Given the description of an element on the screen output the (x, y) to click on. 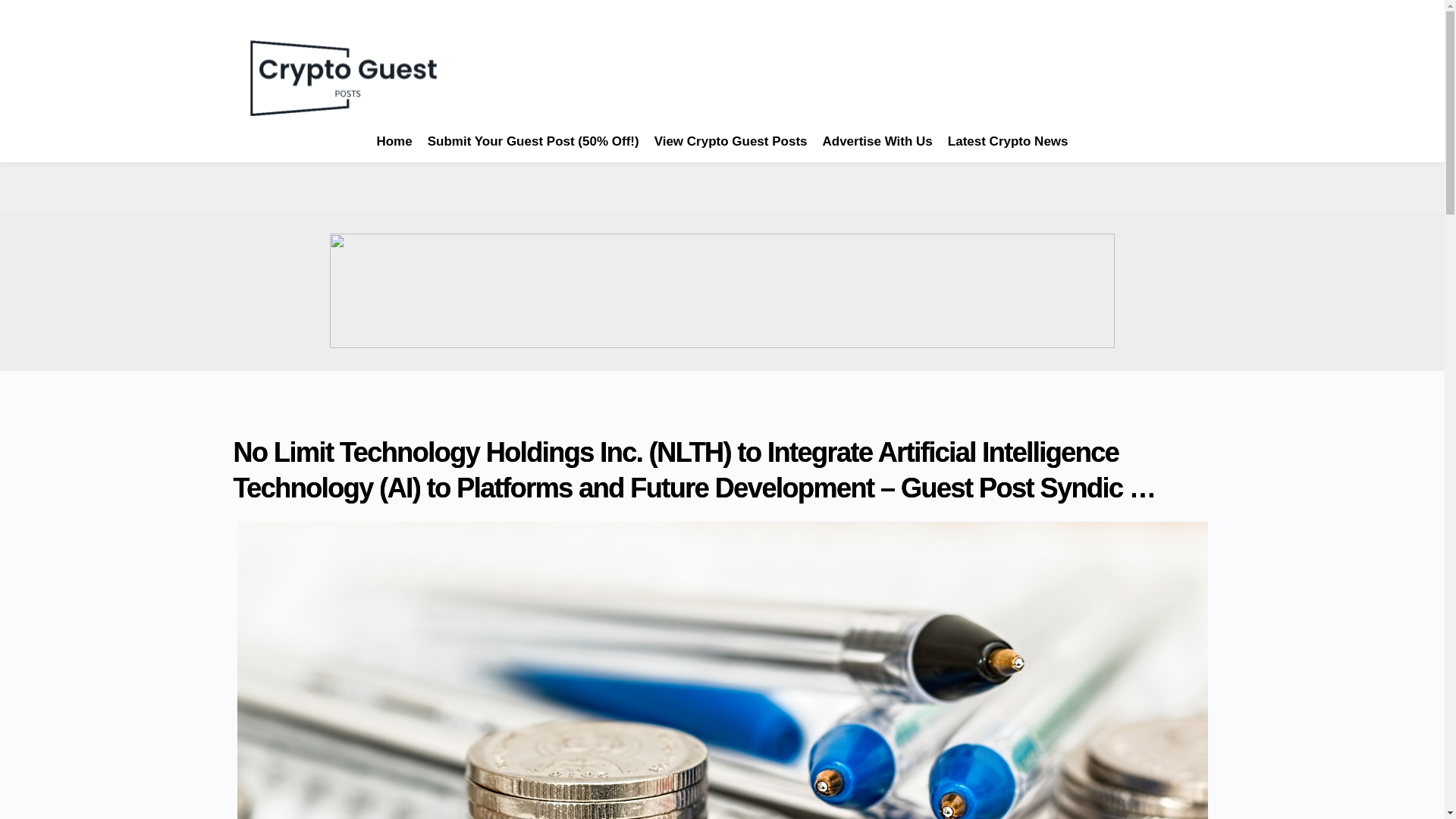
View Crypto Guest Posts (730, 141)
Home (393, 141)
Latest Crypto News (1007, 141)
Advertise With Us (877, 141)
